Given the description of an element on the screen output the (x, y) to click on. 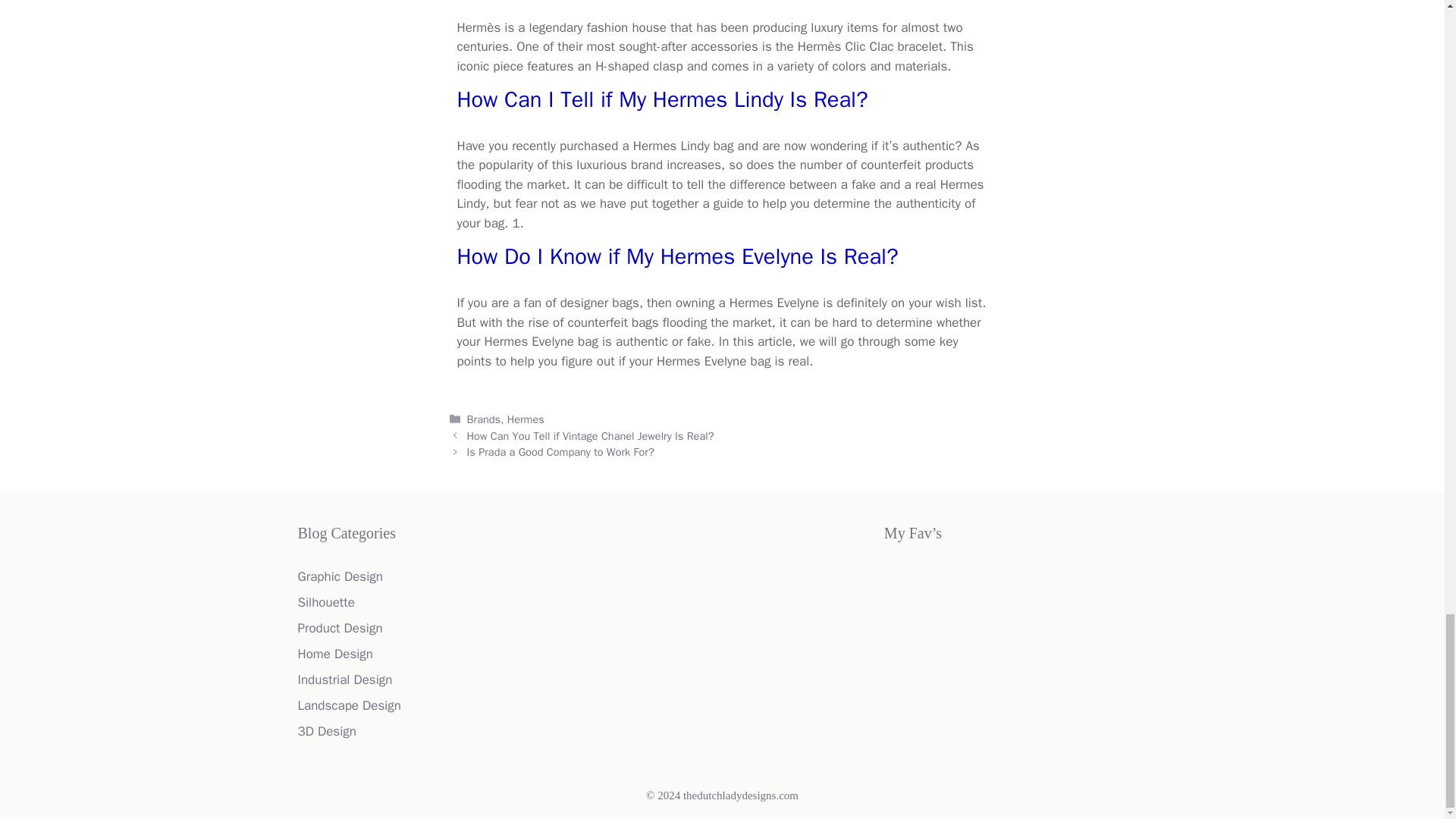
Brands (483, 418)
Is Prada a Good Company to Work For? (560, 451)
How Do I Know if My Hermes Evelyne Is Real? (677, 256)
Graphic Design (339, 576)
Home Design (334, 653)
Silhouette (325, 602)
Product Design (339, 627)
How Can I Tell if My Hermes Lindy Is Real? (662, 99)
How Can You Tell if Vintage Chanel Jewelry Is Real? (590, 436)
Hermes (525, 418)
